Given the description of an element on the screen output the (x, y) to click on. 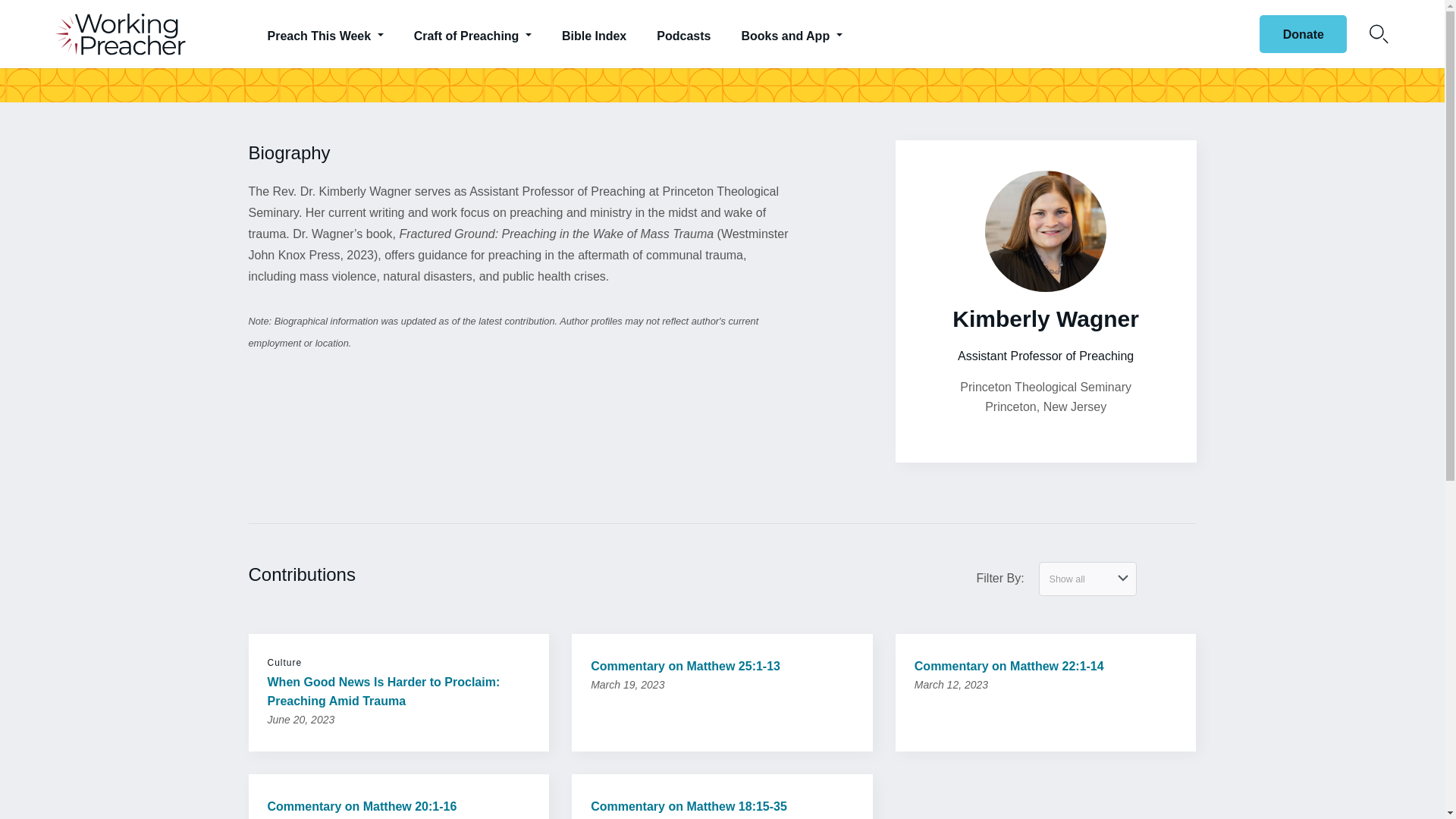
Preach This Week (324, 33)
When Good News Is Harder to Proclaim: Preaching Amid Trauma (397, 691)
Podcasts (683, 33)
Craft of Preaching (472, 33)
Bible Index (594, 33)
Craft of Preaching (472, 33)
Donate (1302, 34)
Bible Index (594, 33)
Commentary on Matthew 25:1-13 (722, 665)
Books and App (791, 33)
Podcasts (683, 33)
Preach This Week (324, 33)
Books and App (791, 33)
Commentary on Matthew 20:1-16 (397, 805)
Commentary on Matthew 22:1-14 (1045, 665)
